Given the description of an element on the screen output the (x, y) to click on. 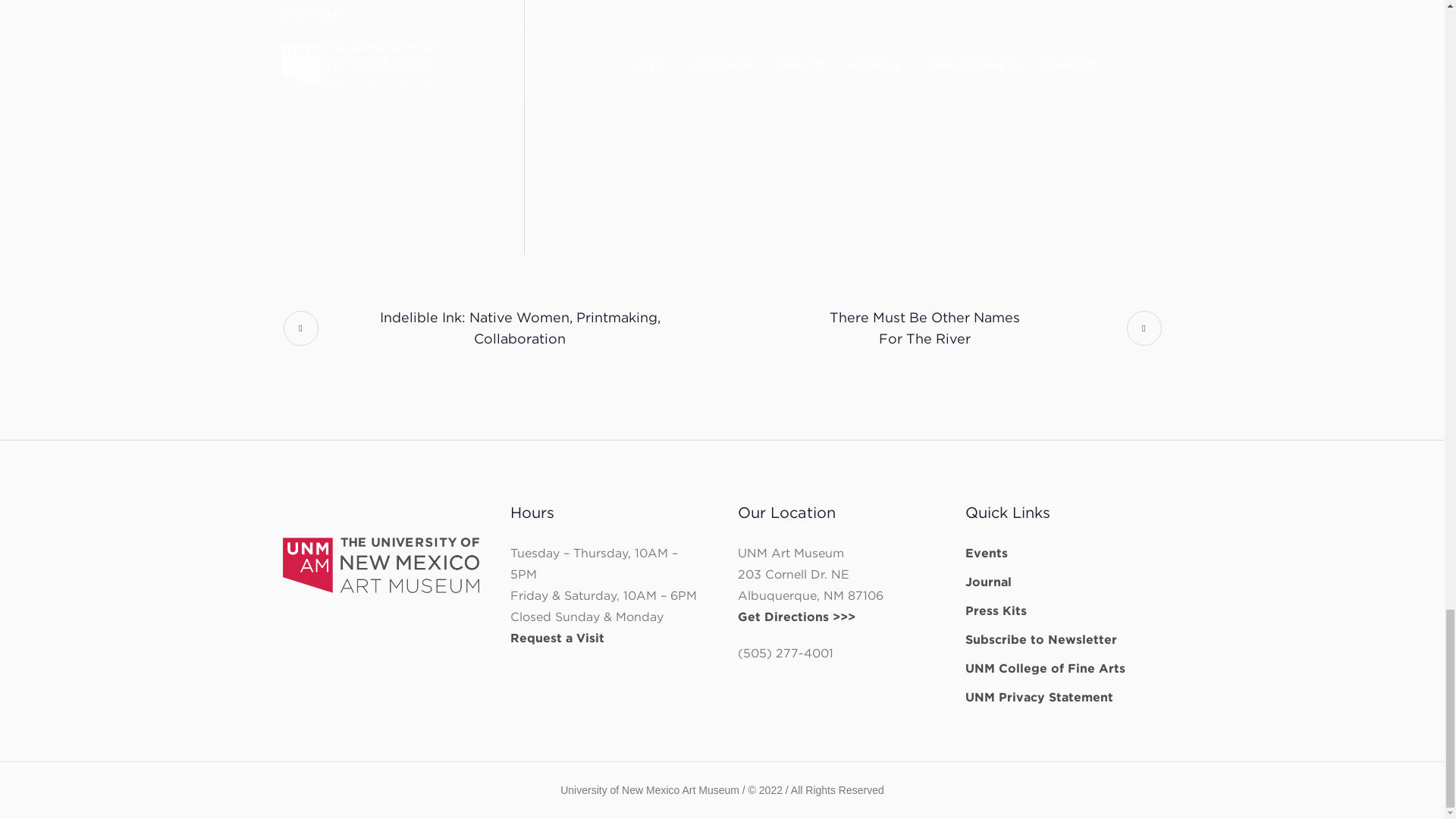
UNM Privacy Statement (1039, 697)
Indelible Ink: Native Women, Printmaking, Collaboration (941, 328)
Press Kits (502, 328)
Request a Visit (995, 610)
Subscribe to Newsletter (557, 637)
UNM College of Fine Arts (1040, 639)
Journal (1045, 667)
Events (988, 581)
